Given the description of an element on the screen output the (x, y) to click on. 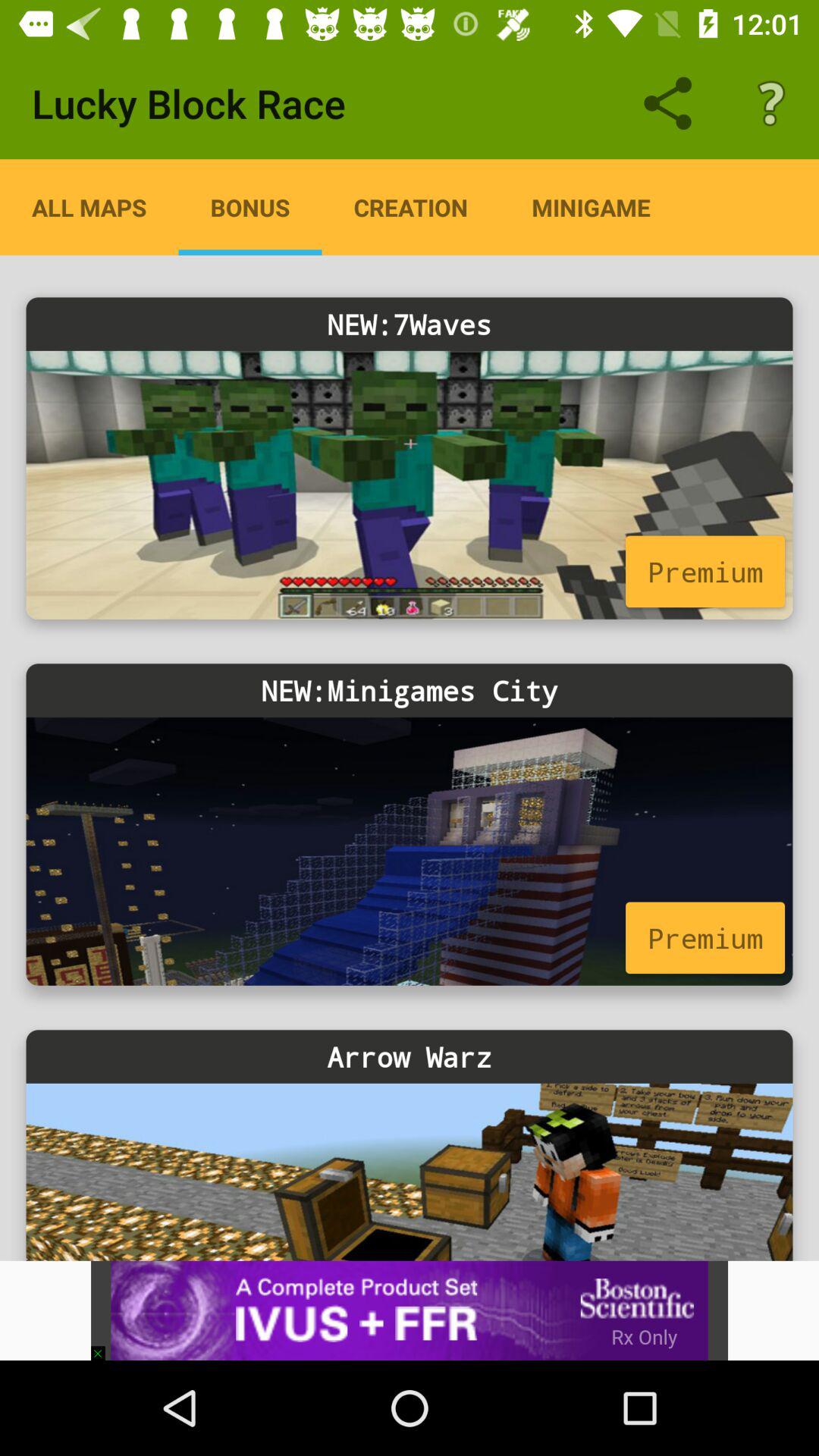
tap the item to the right of the bonus icon (410, 207)
